Given the description of an element on the screen output the (x, y) to click on. 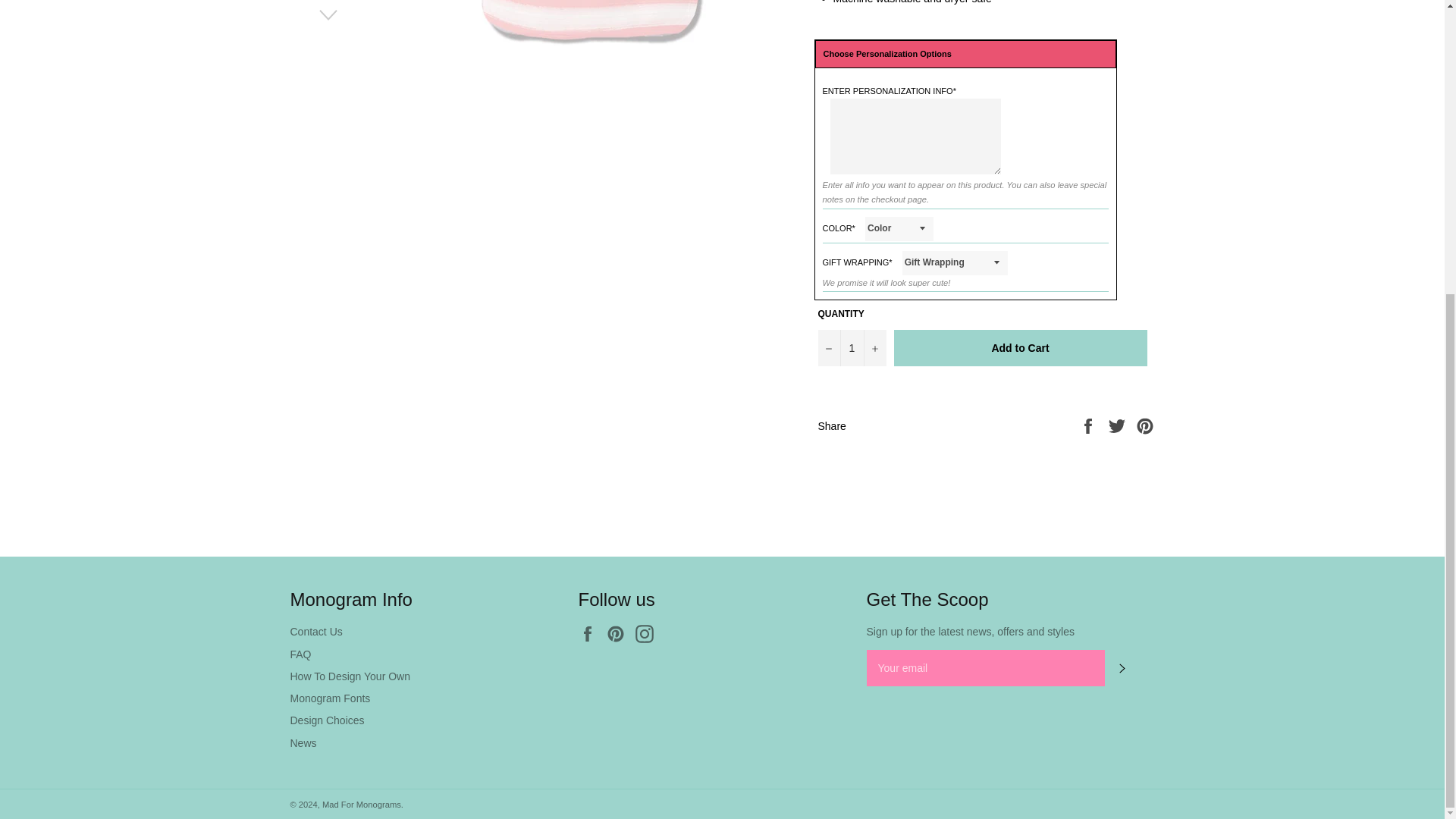
Pin on Pinterest (1144, 425)
Share on Facebook (1089, 425)
1 (850, 348)
Mad For Monograms on Facebook (591, 633)
Mad For Monograms on Instagram (647, 633)
Mad For Monograms on Pinterest (619, 633)
Tweet on Twitter (1118, 425)
